Given the description of an element on the screen output the (x, y) to click on. 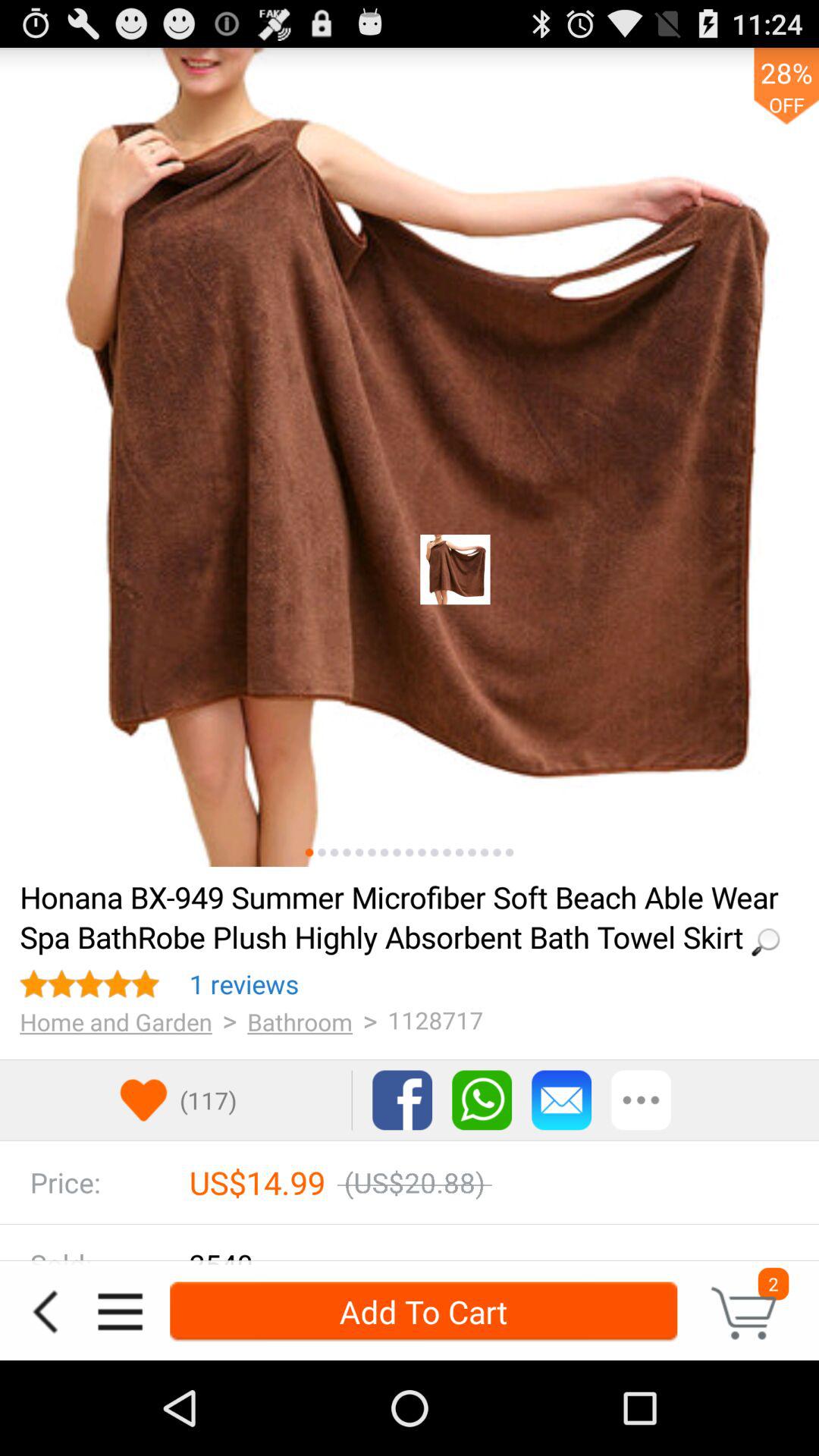
share item by email (561, 1100)
